Given the description of an element on the screen output the (x, y) to click on. 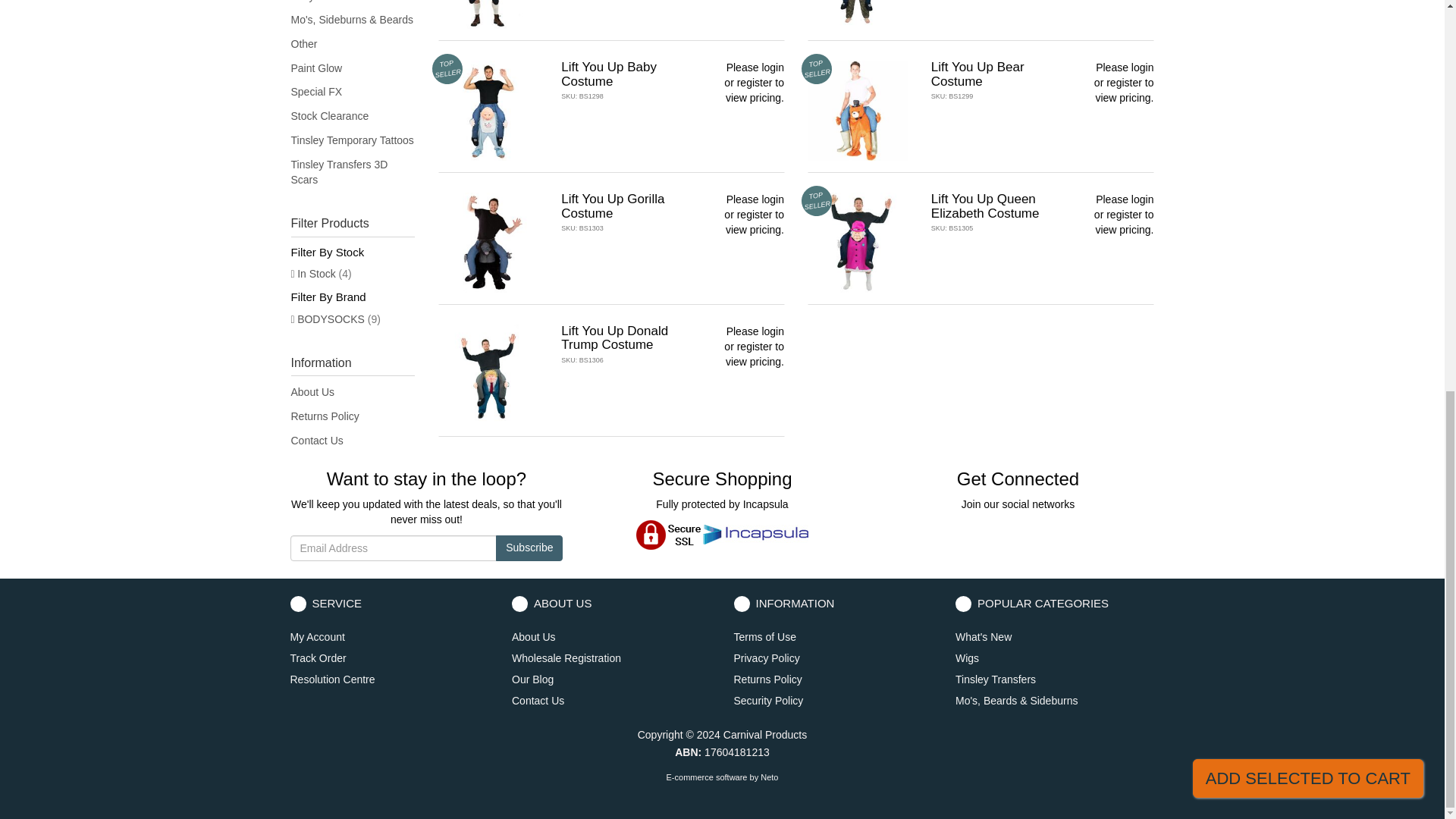
Lift You Up  Bear Costume (978, 73)
Subscribe (529, 548)
 Lift You Up  Queen Elizabeth Costume (985, 205)
Lift You Up  Baby Costume (608, 73)
 Lift You Up  Gorilla Costume (611, 205)
 Lift You Up  Donald Trump Costume (614, 337)
